Given the description of an element on the screen output the (x, y) to click on. 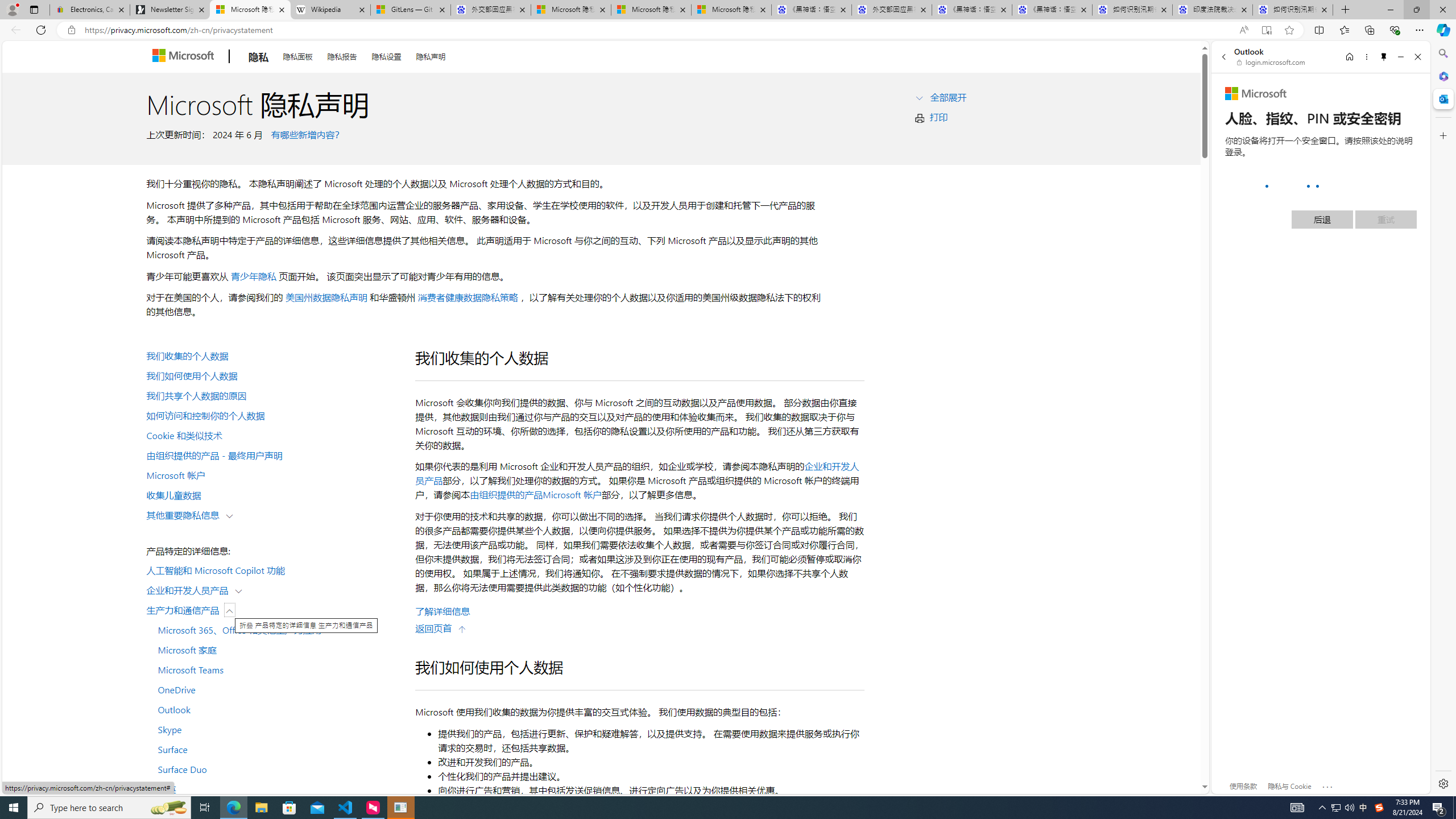
Skype (274, 728)
